Given the description of an element on the screen output the (x, y) to click on. 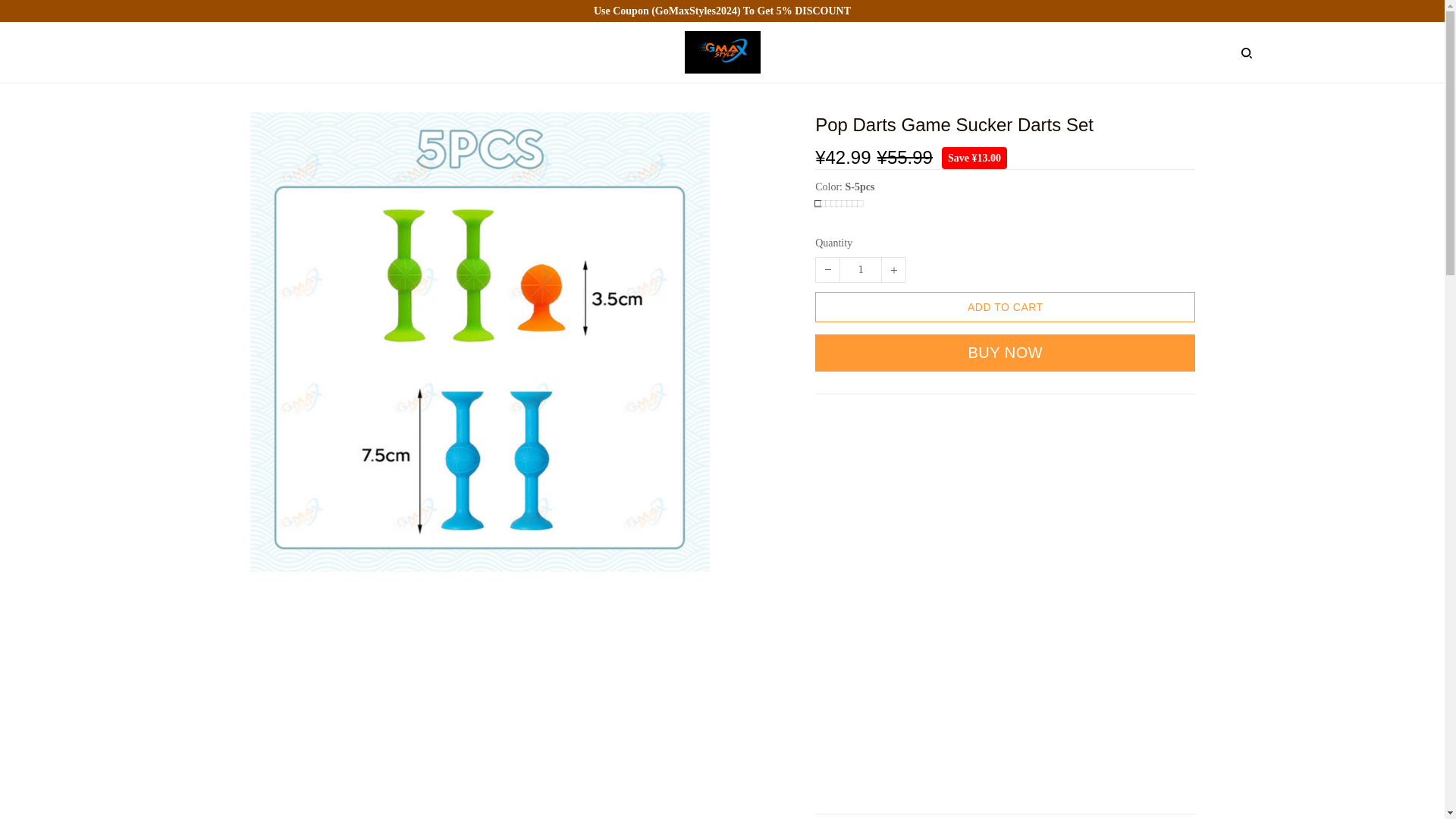
1 (860, 269)
BUY NOW (1005, 352)
ADD TO CART (1005, 306)
